Given the description of an element on the screen output the (x, y) to click on. 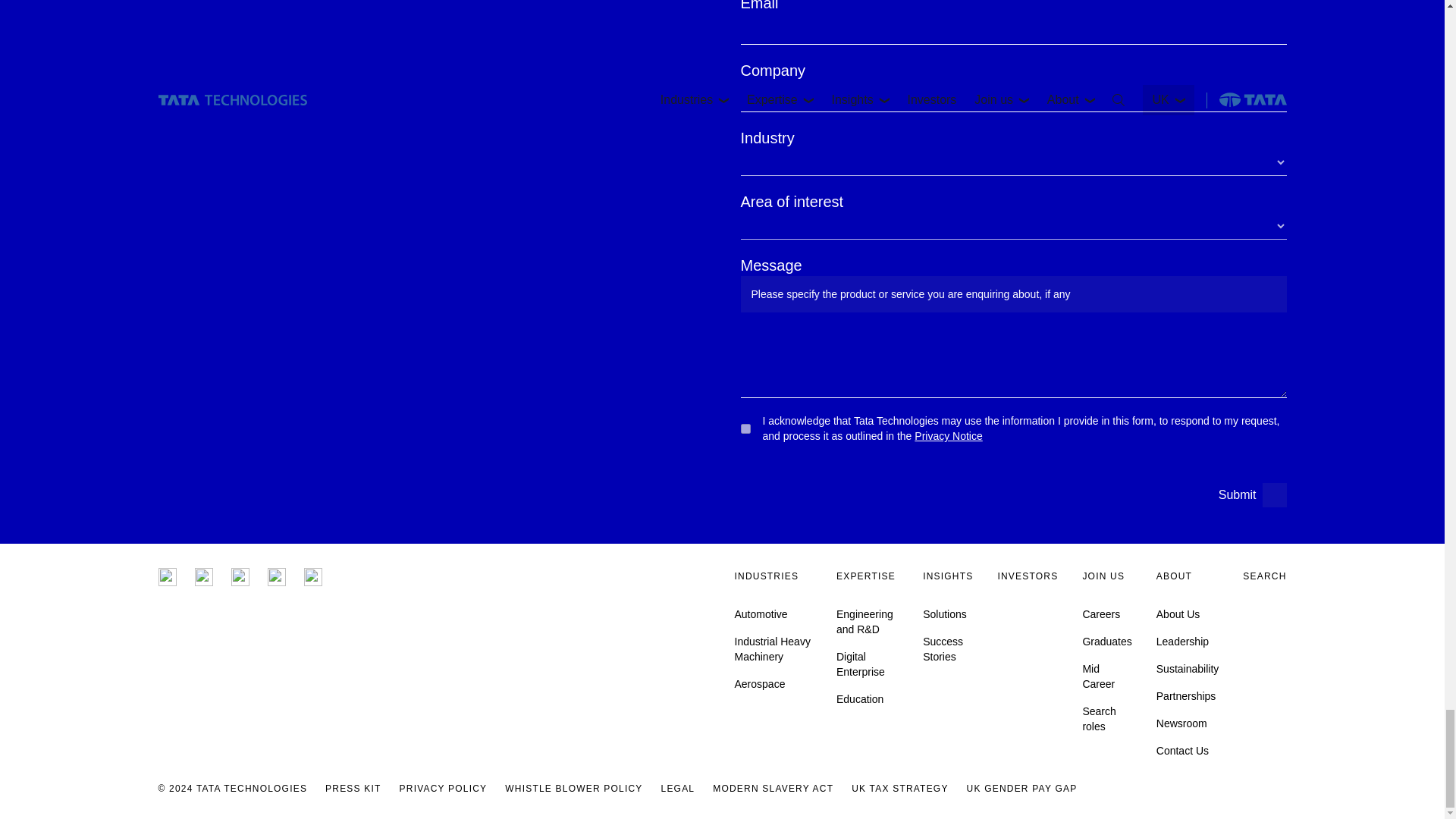
Yes (744, 429)
